Given the description of an element on the screen output the (x, y) to click on. 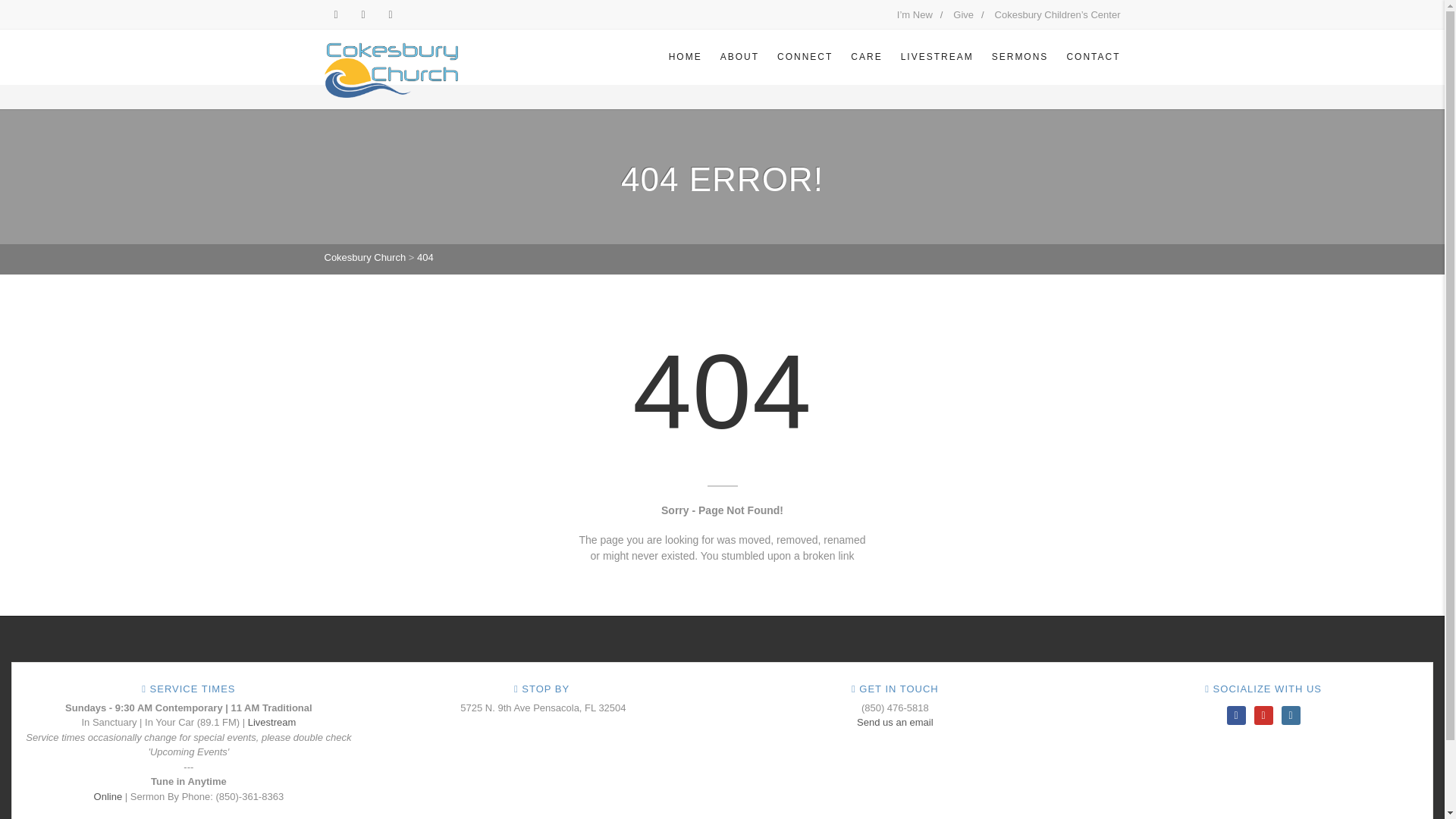
Send us an email (895, 722)
HOME (685, 56)
SERMONS (1020, 56)
CONNECT (804, 56)
Go to Cokesbury Church. (365, 256)
Cokesbury Church (365, 256)
ABOUT (739, 56)
CONTACT (1088, 56)
LIVESTREAM (936, 56)
Online (108, 795)
